Given the description of an element on the screen output the (x, y) to click on. 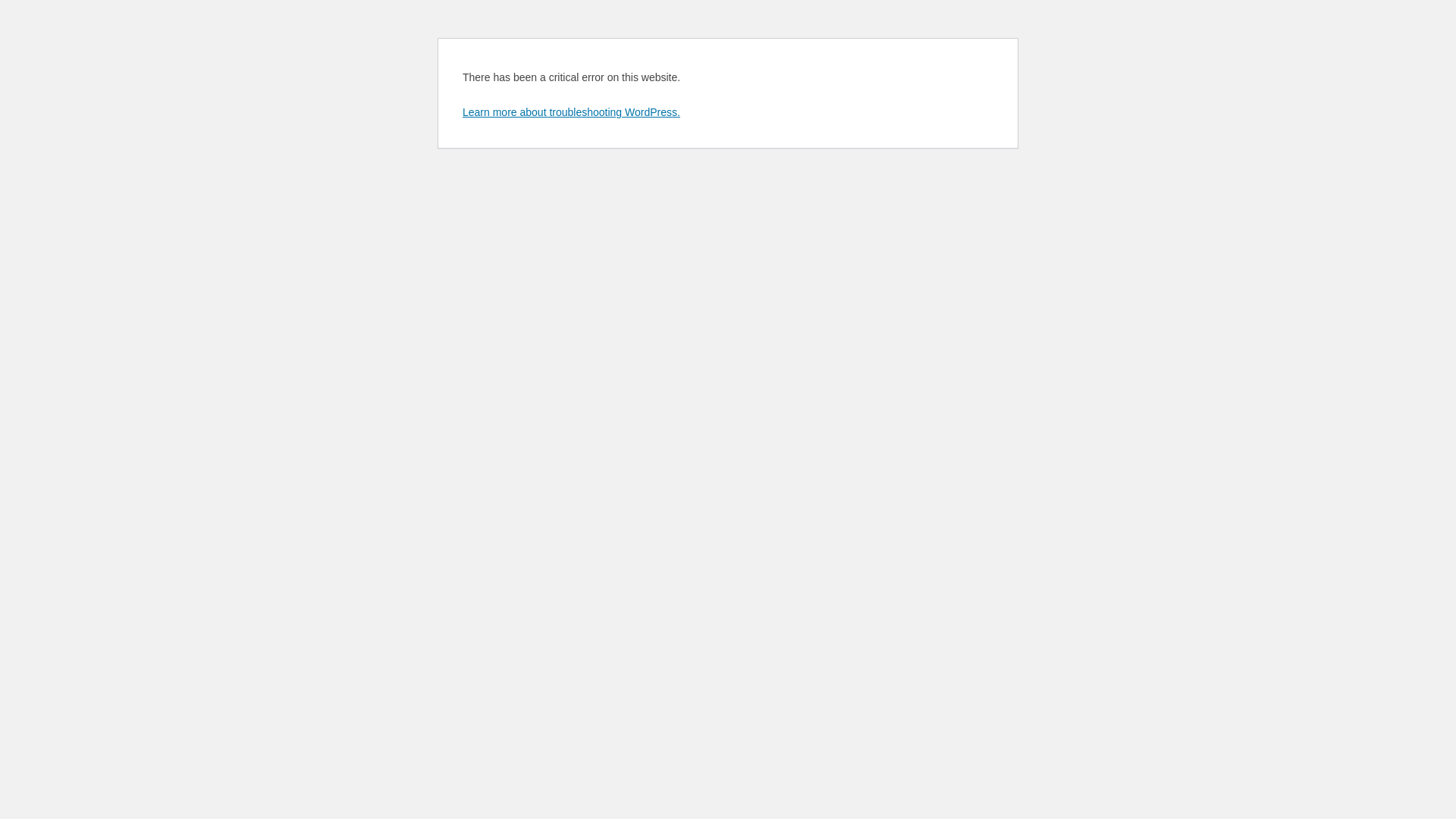
Learn more about troubleshooting WordPress. Element type: text (571, 112)
